Given the description of an element on the screen output the (x, y) to click on. 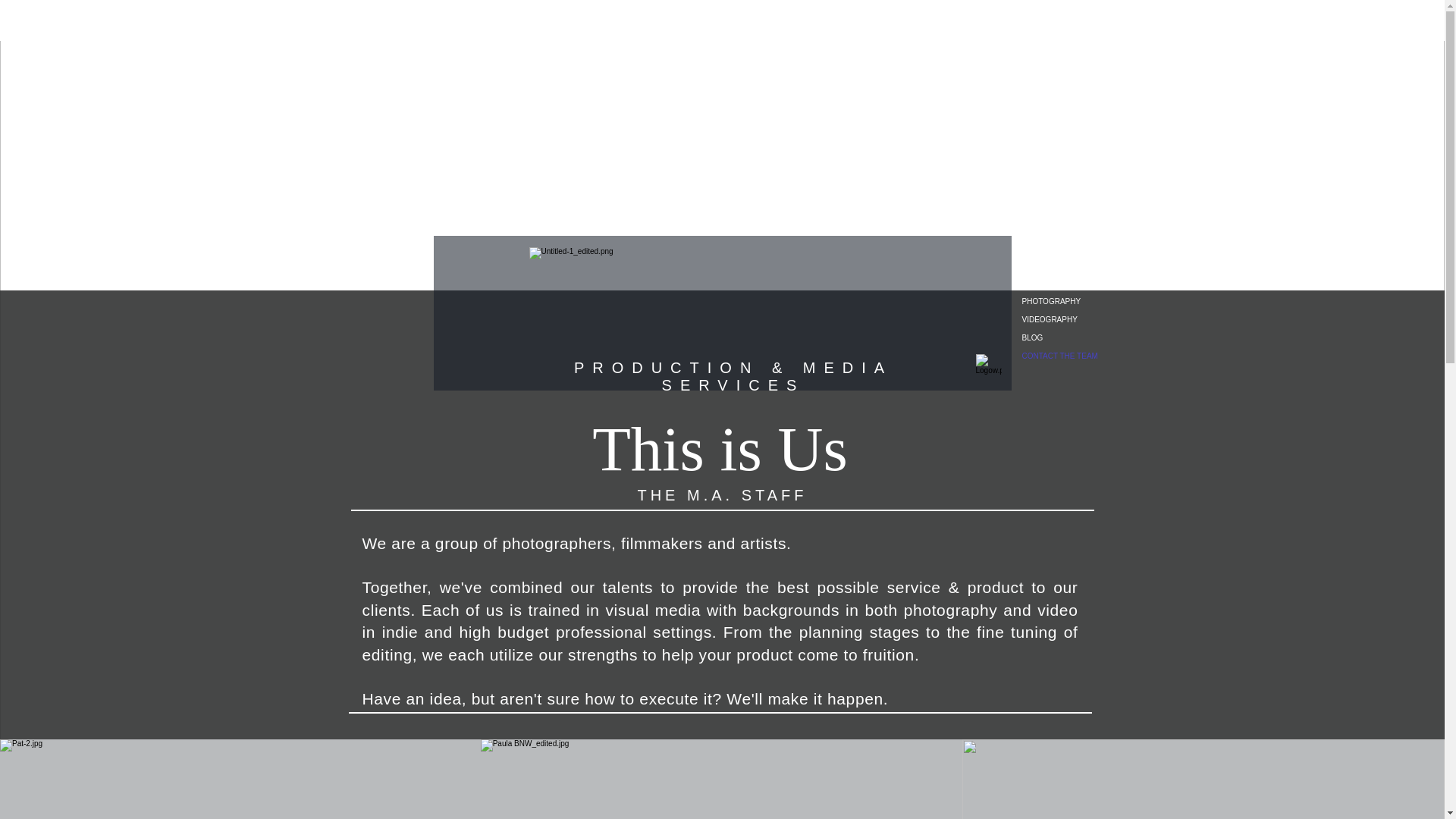
PHOTOGRAPHY (1067, 301)
VIDEOGRAPHY (1067, 320)
BLOG (1067, 338)
HOME (1067, 283)
CONTACT THE TEAM (1067, 356)
